Given the description of an element on the screen output the (x, y) to click on. 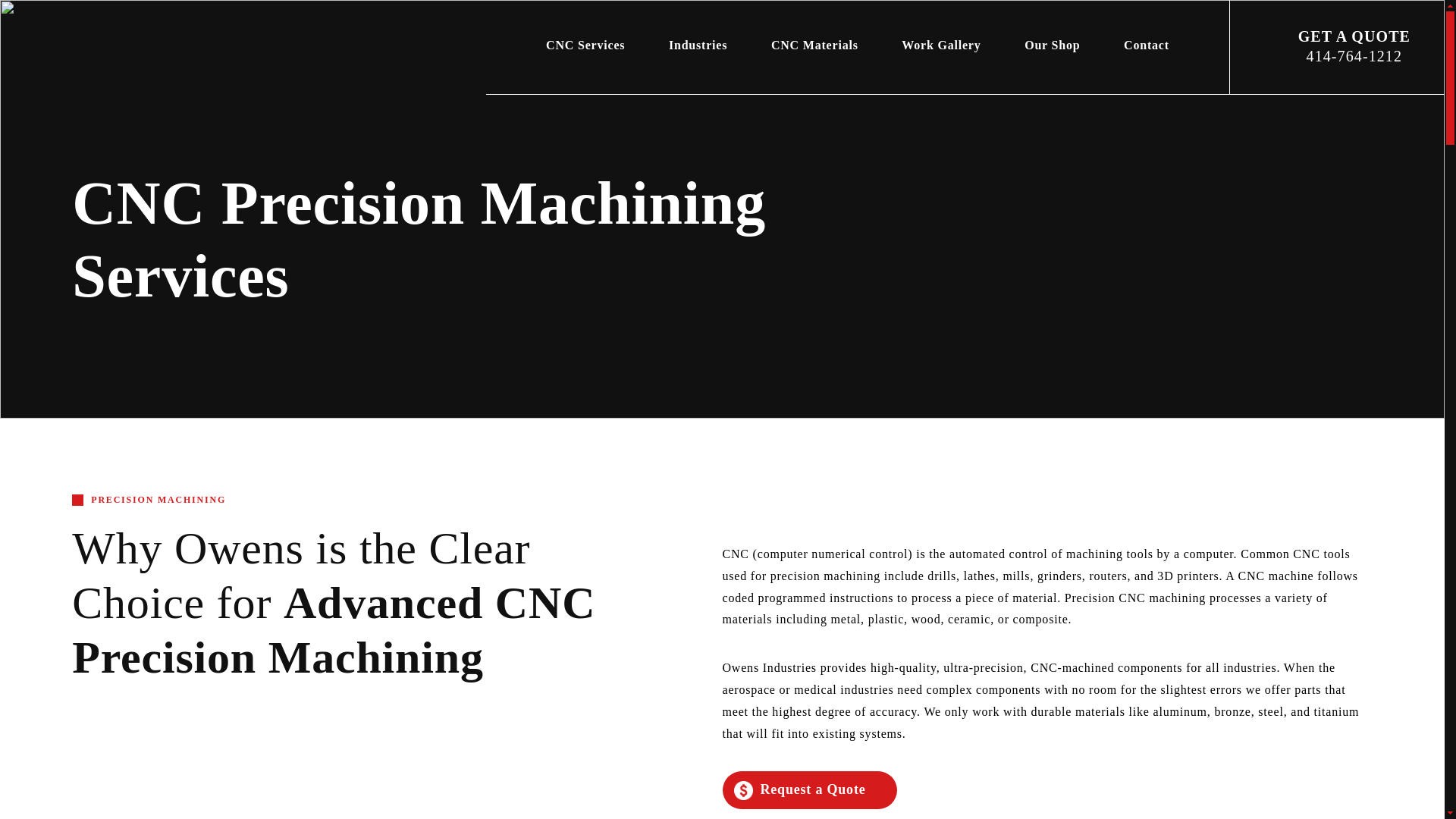
Our Shop (1052, 45)
Contact (1146, 45)
CNC Services (585, 45)
Work Gallery (941, 45)
CNC Materials (814, 45)
Industries We Serve (697, 45)
Ultra Precision Machining Services for any Industry (123, 56)
Industries (697, 45)
Learn About Our CNC Services (585, 45)
